Given the description of an element on the screen output the (x, y) to click on. 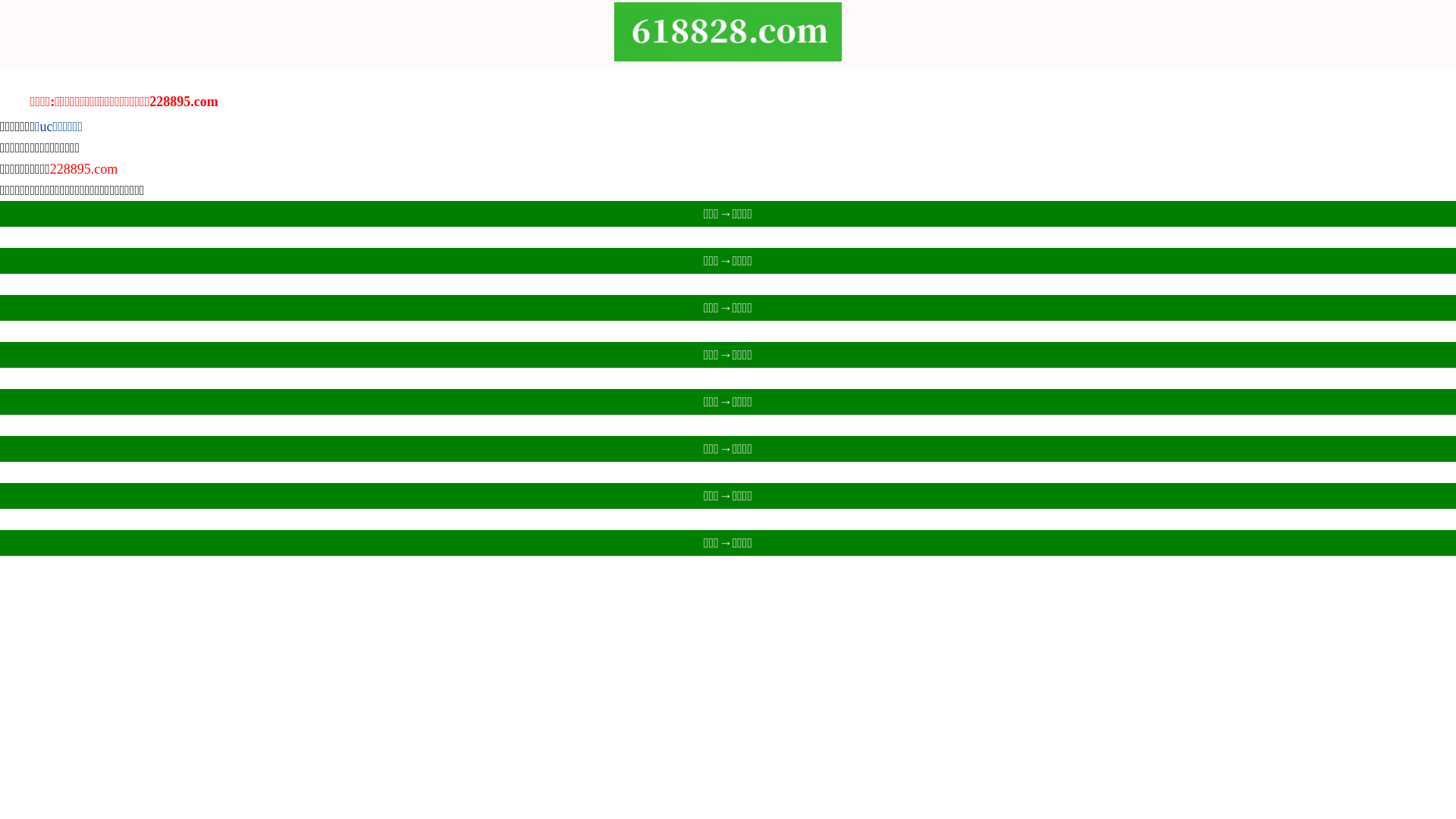
228895.com Element type: text (84, 168)
